Given the description of an element on the screen output the (x, y) to click on. 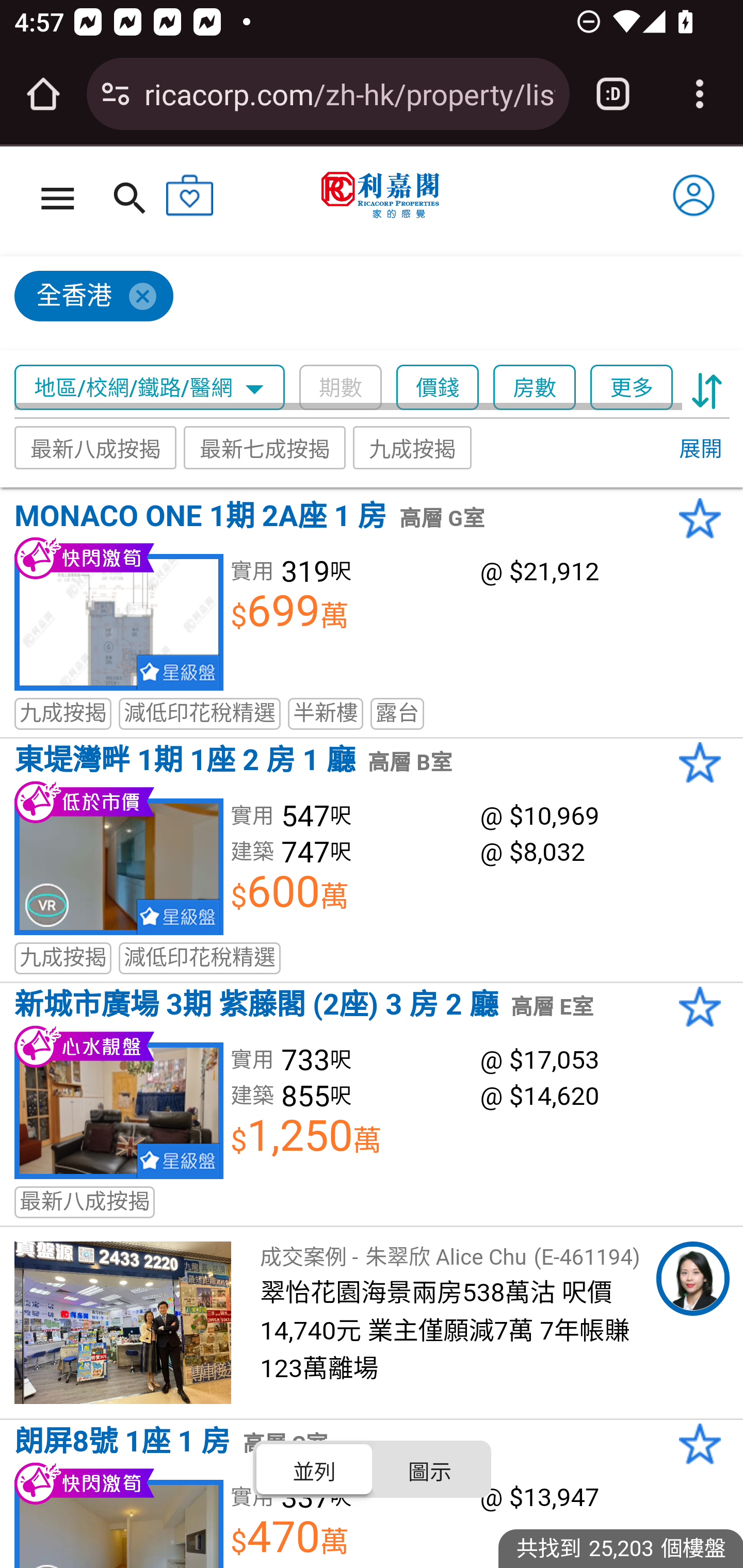
Open the home page (43, 93)
Connection is secure (115, 93)
Switch or close tabs (612, 93)
Customize and control Google Chrome (699, 93)
ricacorp.com/zh-hk/property/list/buy (349, 92)
地區/校網/鐵路 (124, 387)
sort (706, 387)
並列 (314, 1468)
圖示 (429, 1468)
